Given the description of an element on the screen output the (x, y) to click on. 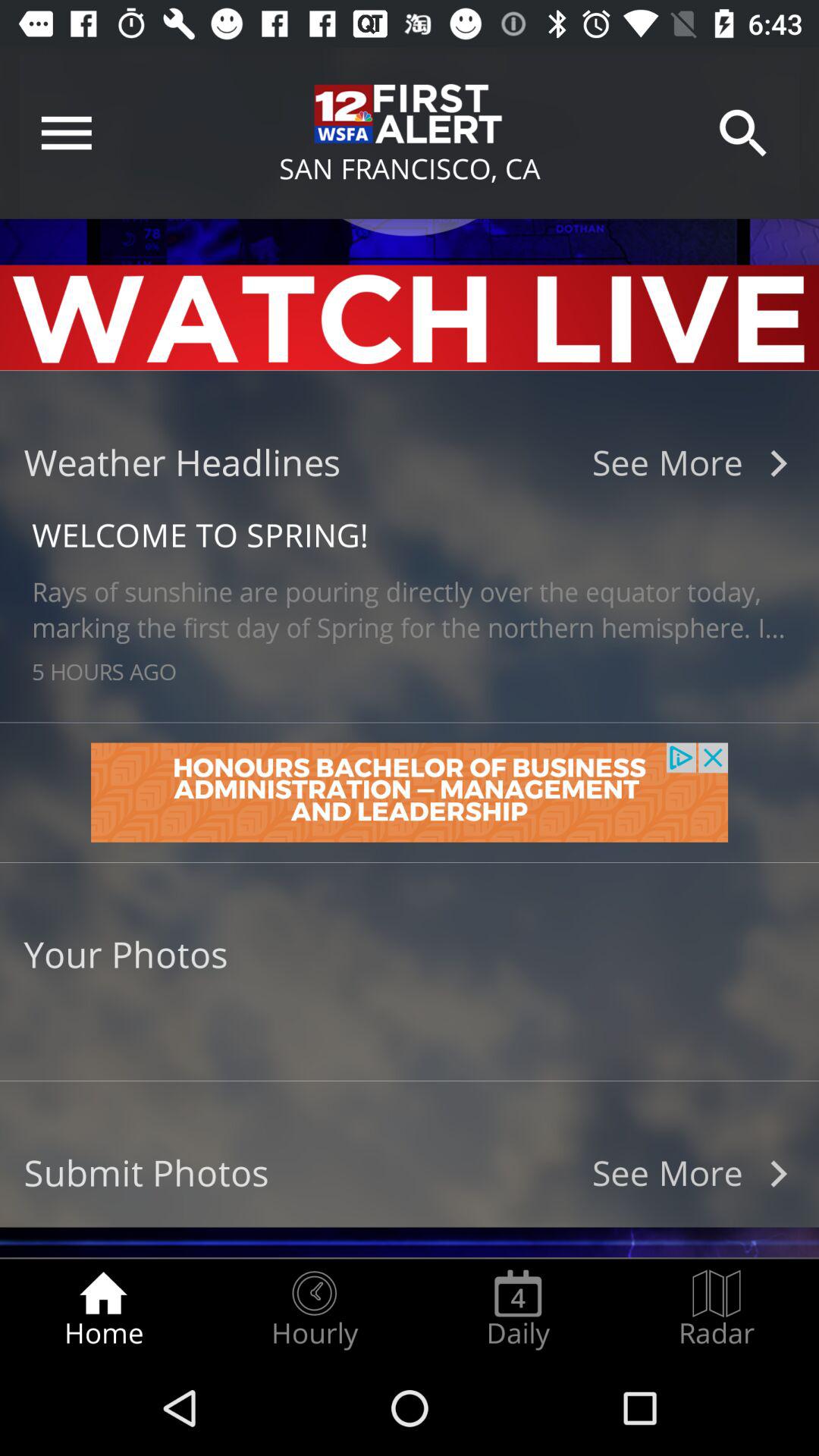
turn off the item to the right of the hourly radio button (518, 1309)
